Given the description of an element on the screen output the (x, y) to click on. 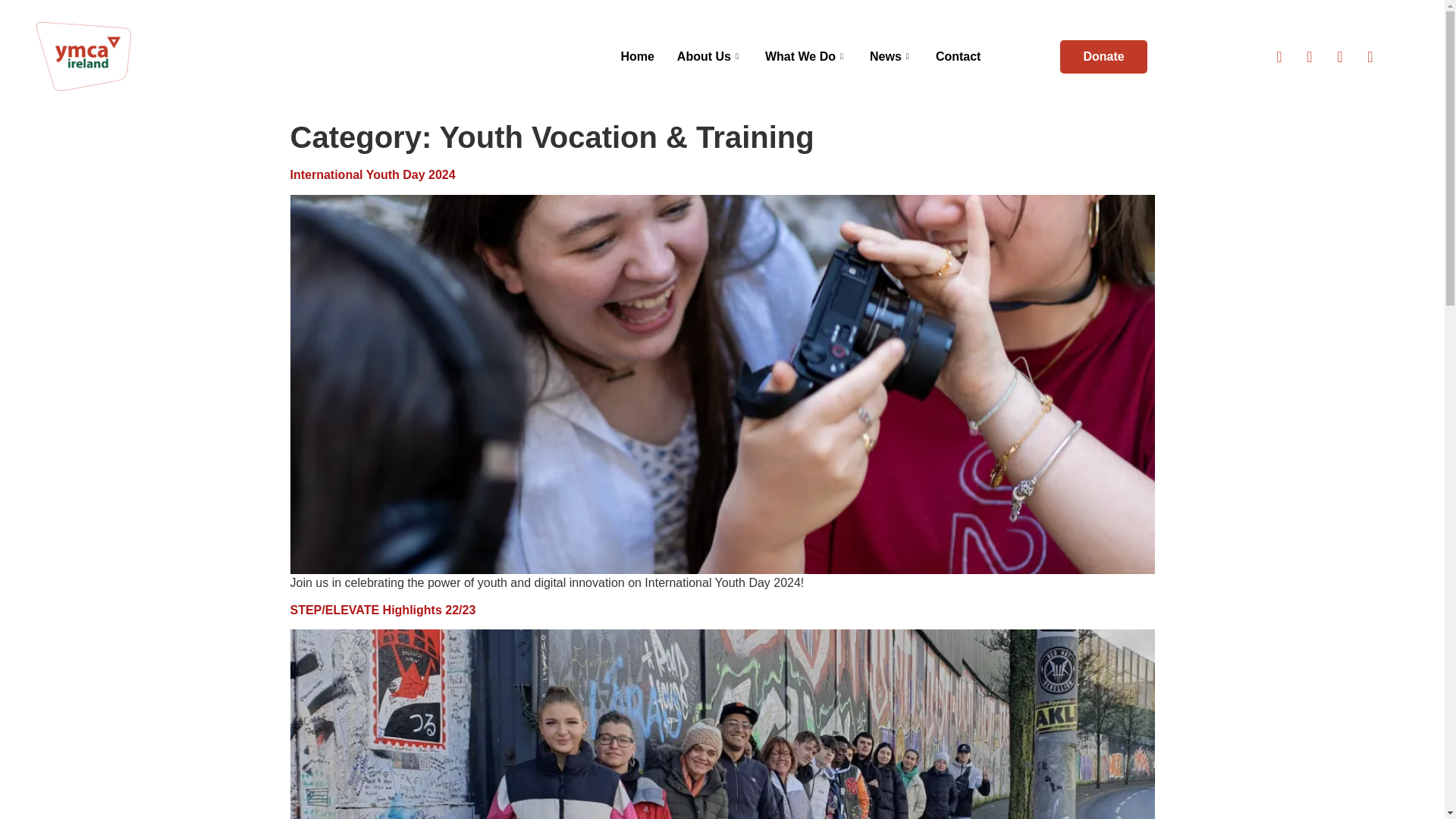
International Youth Day 2024 (371, 174)
Contact (958, 56)
Donate (1103, 56)
News (891, 56)
Home (636, 56)
What We Do (806, 56)
About Us (709, 56)
